Given the description of an element on the screen output the (x, y) to click on. 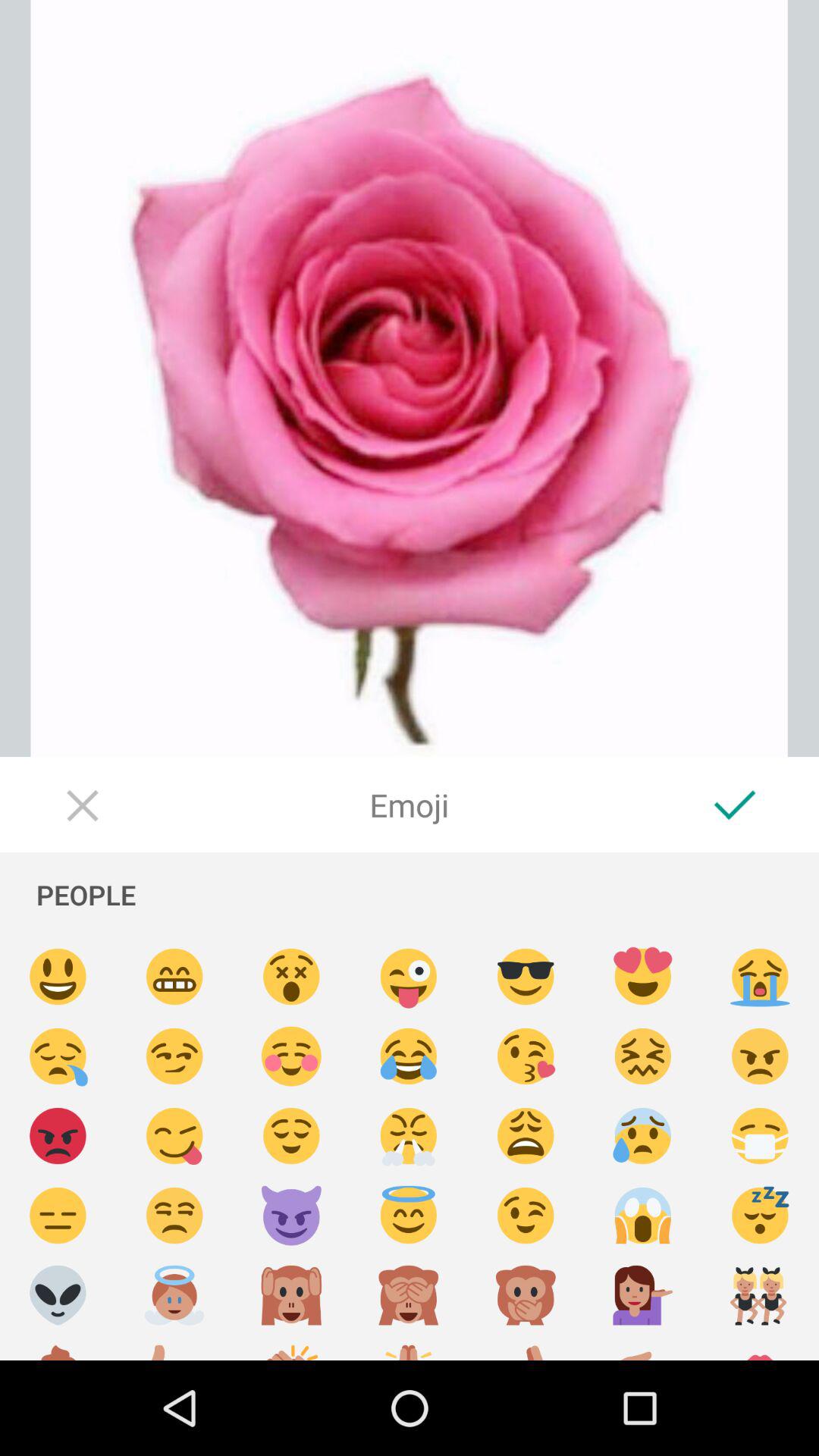
add an emoji (58, 1295)
